Given the description of an element on the screen output the (x, y) to click on. 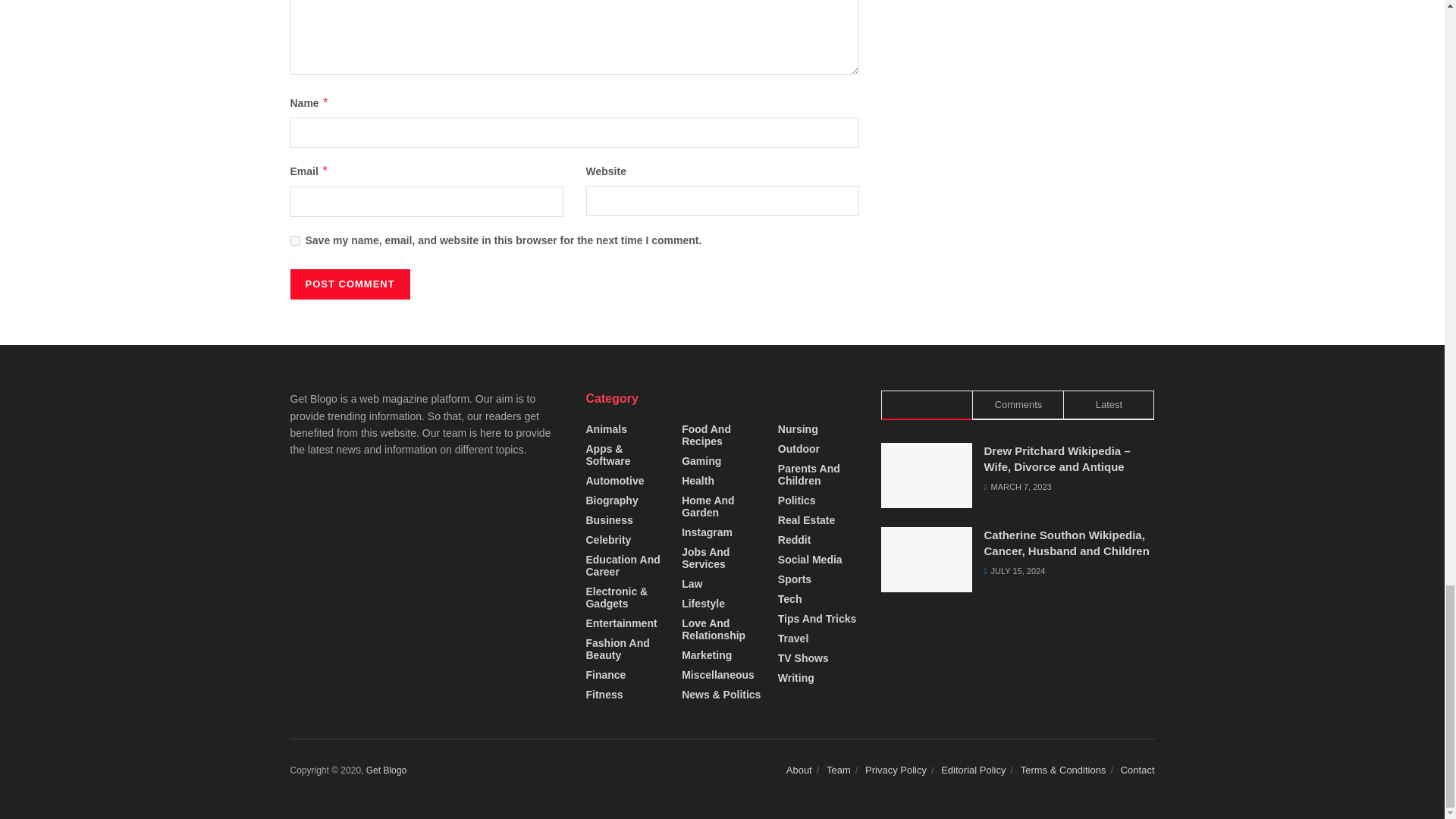
Post Comment (349, 284)
yes (294, 240)
